Given the description of an element on the screen output the (x, y) to click on. 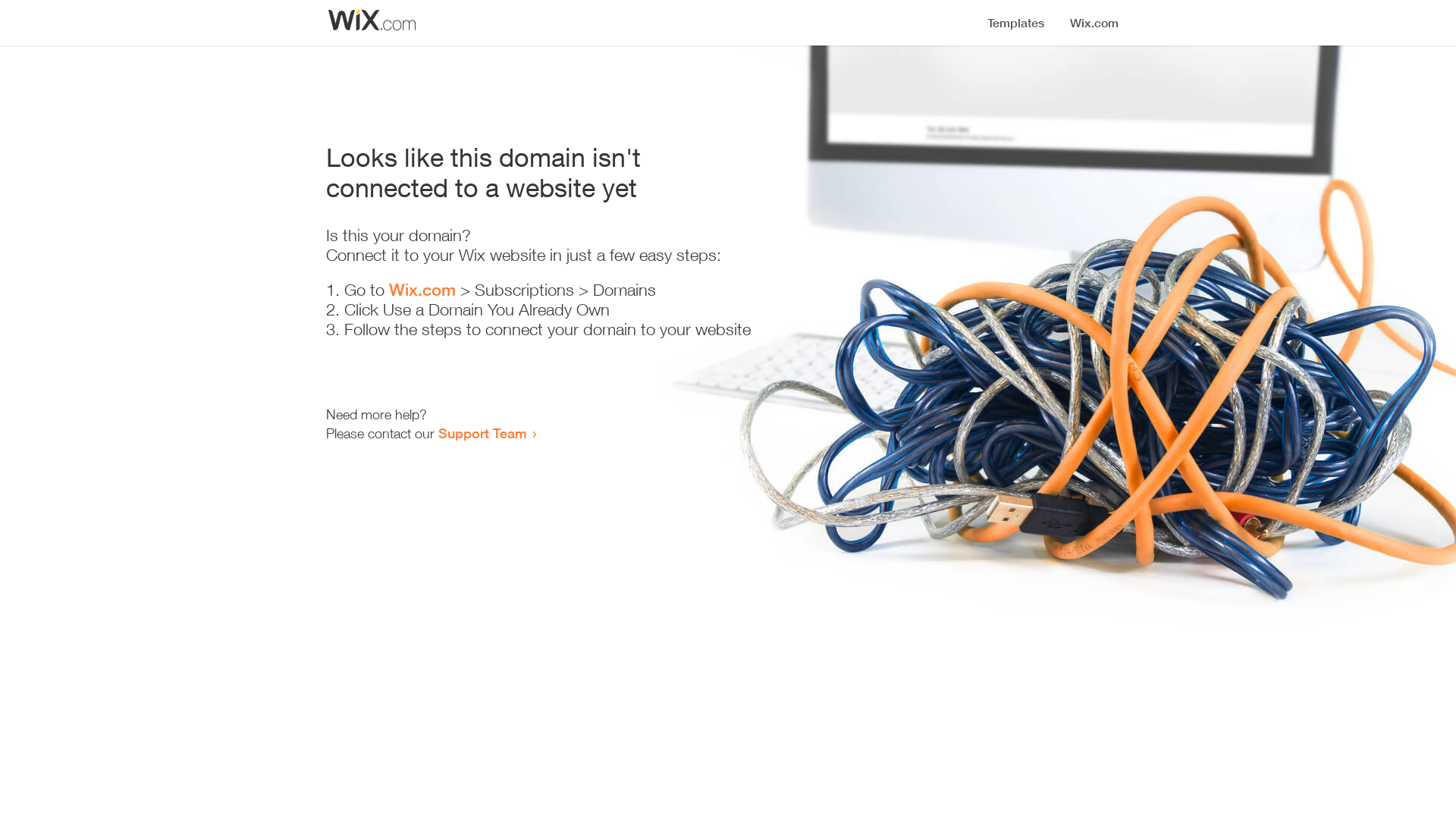
Support Team Element type: text (482, 432)
Wix.com Element type: text (422, 289)
